Given the description of an element on the screen output the (x, y) to click on. 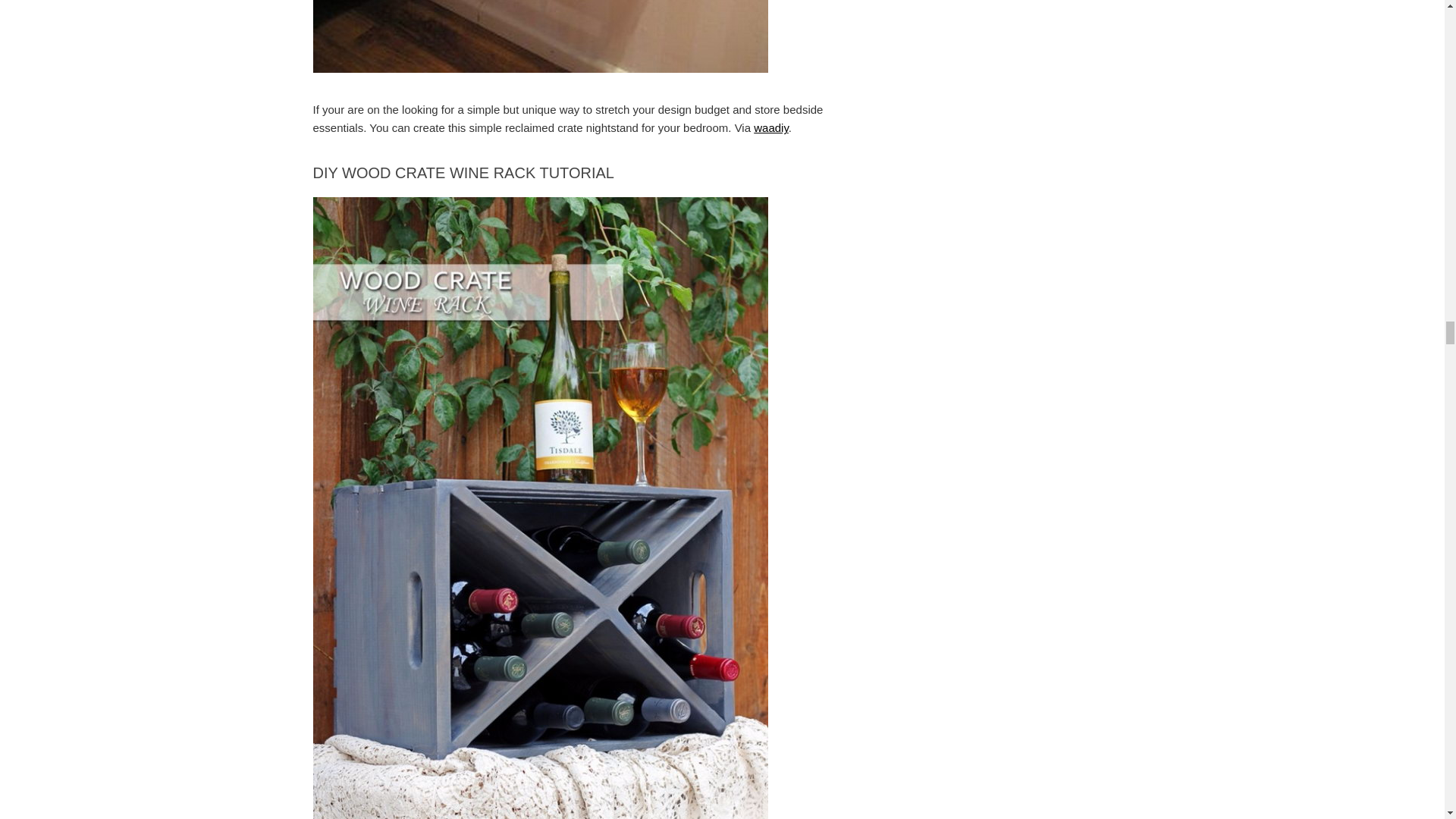
waadiy (771, 127)
